Given the description of an element on the screen output the (x, y) to click on. 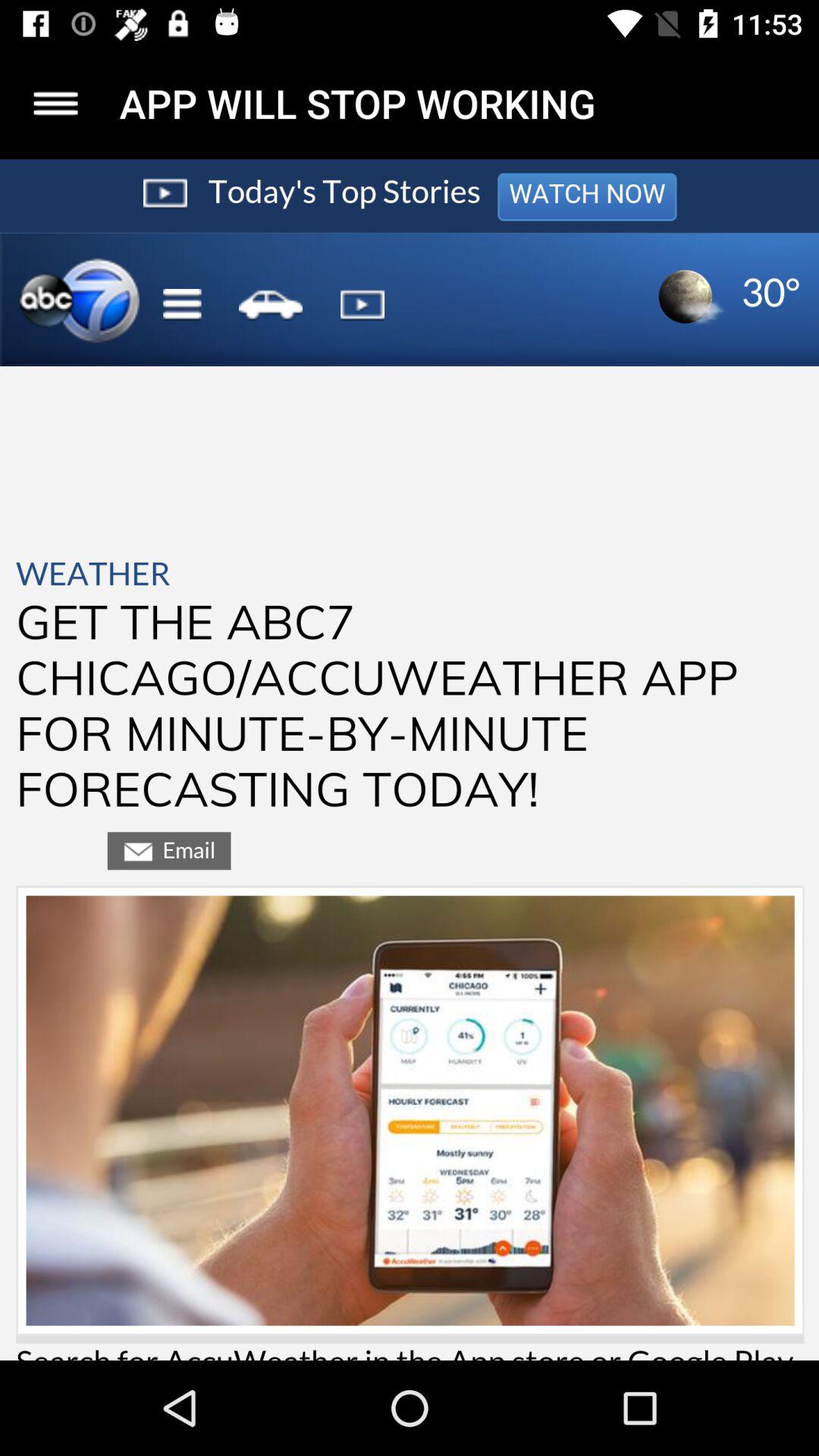
for web advertisement (409, 759)
